Given the description of an element on the screen output the (x, y) to click on. 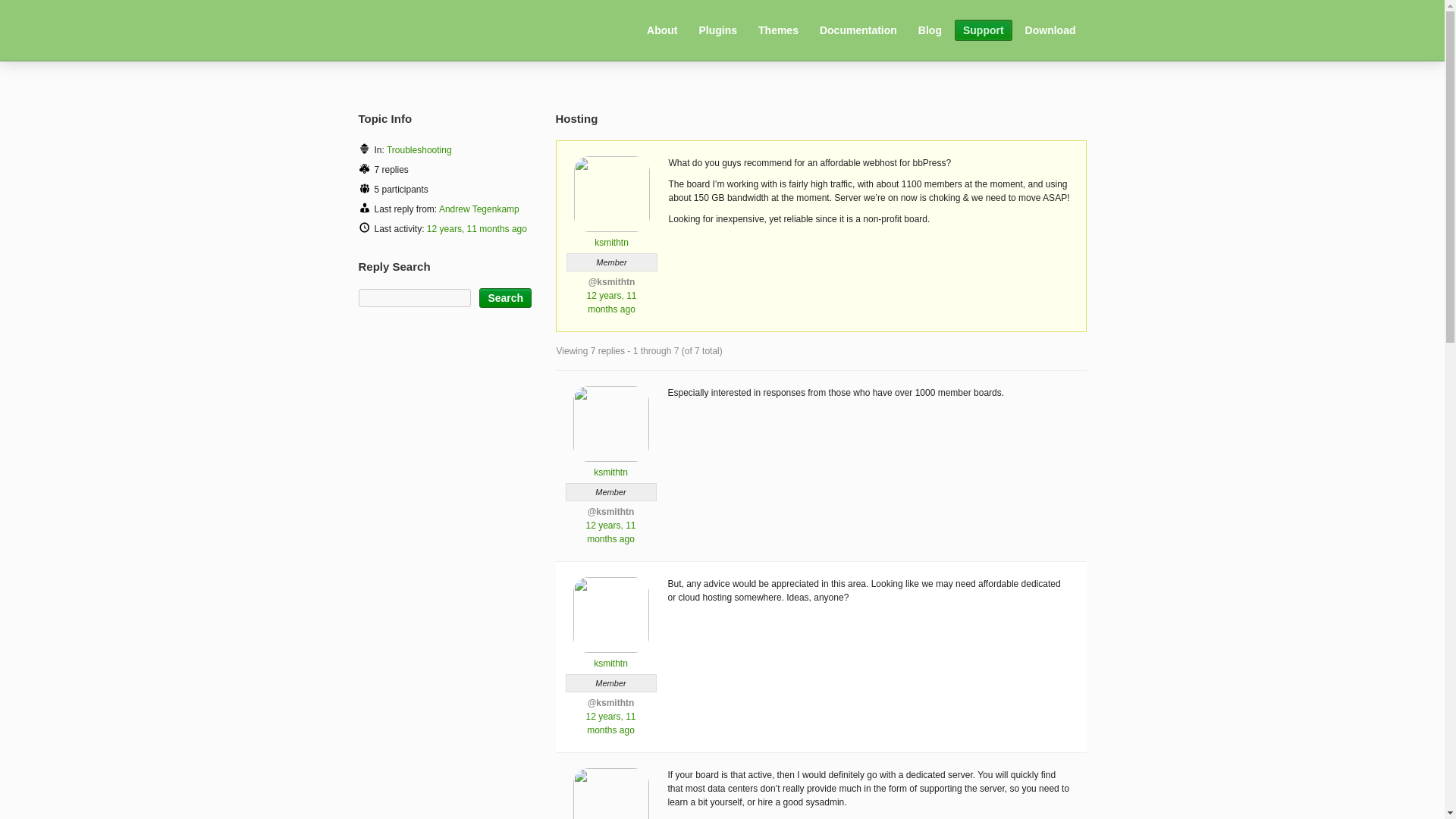
Documentation (857, 29)
About (662, 29)
Blog (930, 29)
ksmithtn (611, 236)
Plugins (717, 29)
12 years, 11 months ago (609, 723)
12 years, 11 months ago (476, 228)
Andrew Tegenkamp (479, 208)
ksmithtn (609, 466)
bbPress.org (441, 29)
